Given the description of an element on the screen output the (x, y) to click on. 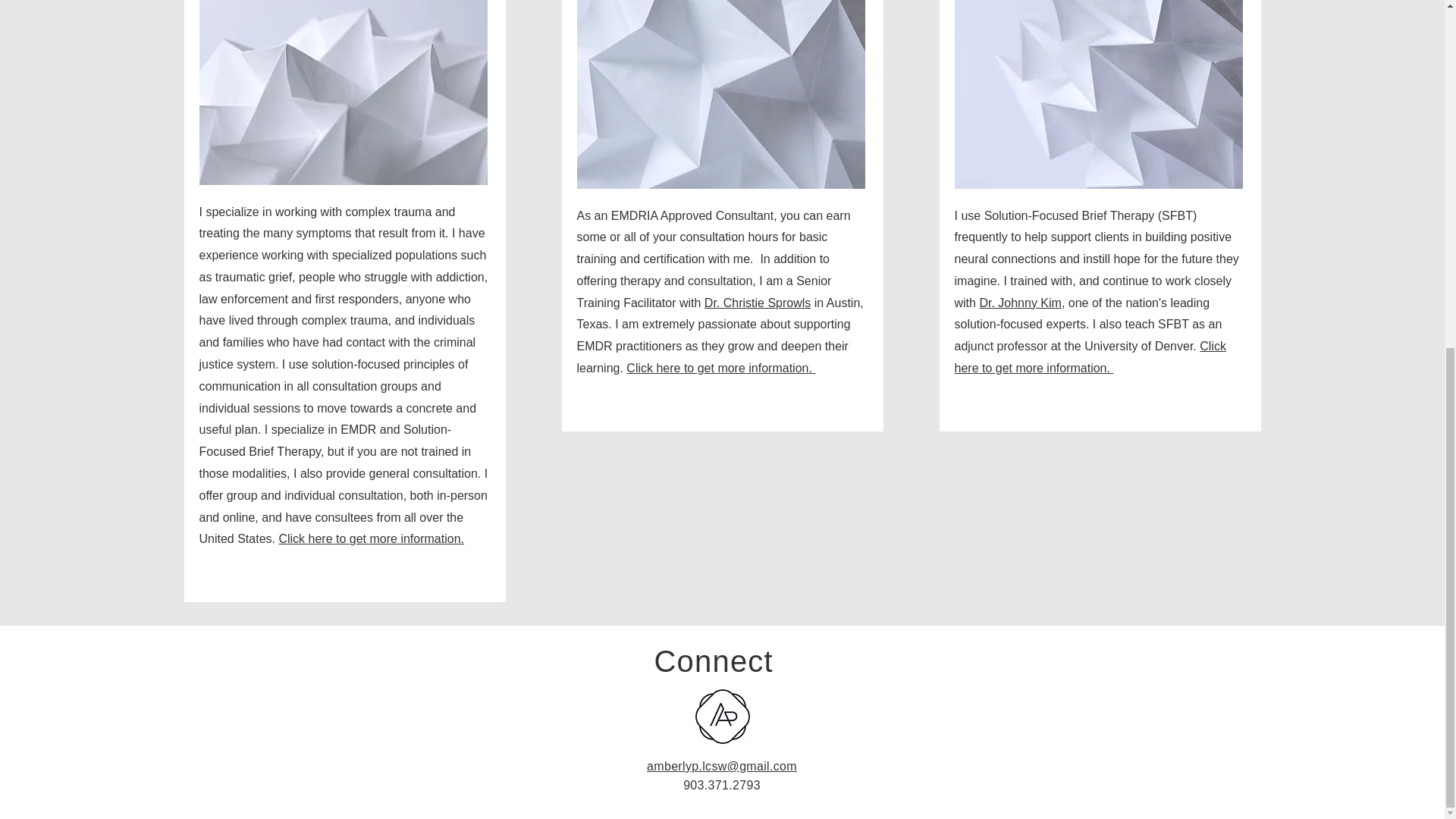
Click here to get more information. (371, 538)
Dr. Johnny Kim (1019, 302)
Click here to get more information.  (1089, 356)
Dr. Christie Sprowls (757, 302)
Click here to get more information.  (720, 367)
